Given the description of an element on the screen output the (x, y) to click on. 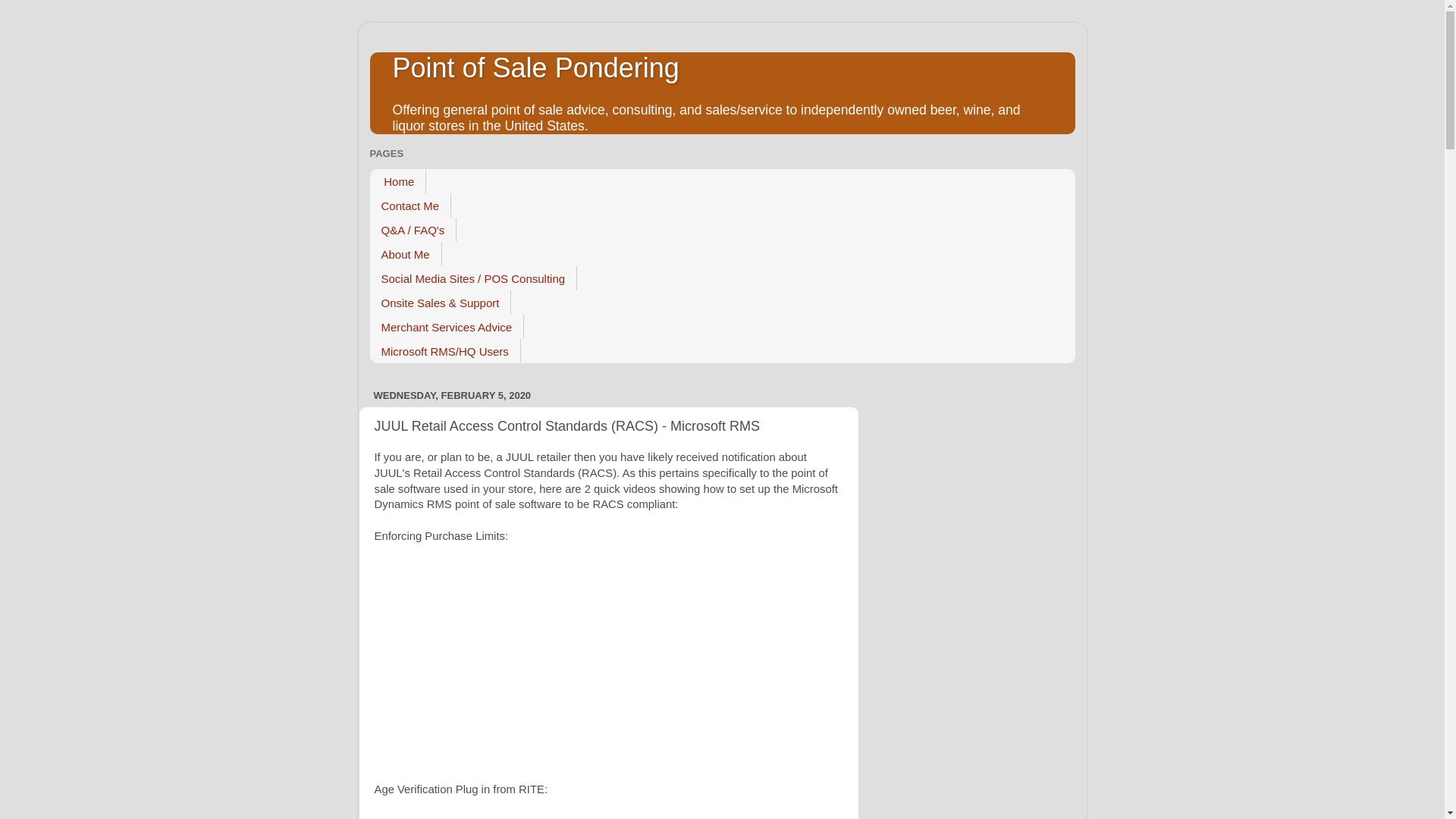
About Me (405, 253)
Contact Me (410, 205)
Home (397, 180)
Merchant Services Advice (446, 326)
Point of Sale Pondering (536, 67)
